Given the description of an element on the screen output the (x, y) to click on. 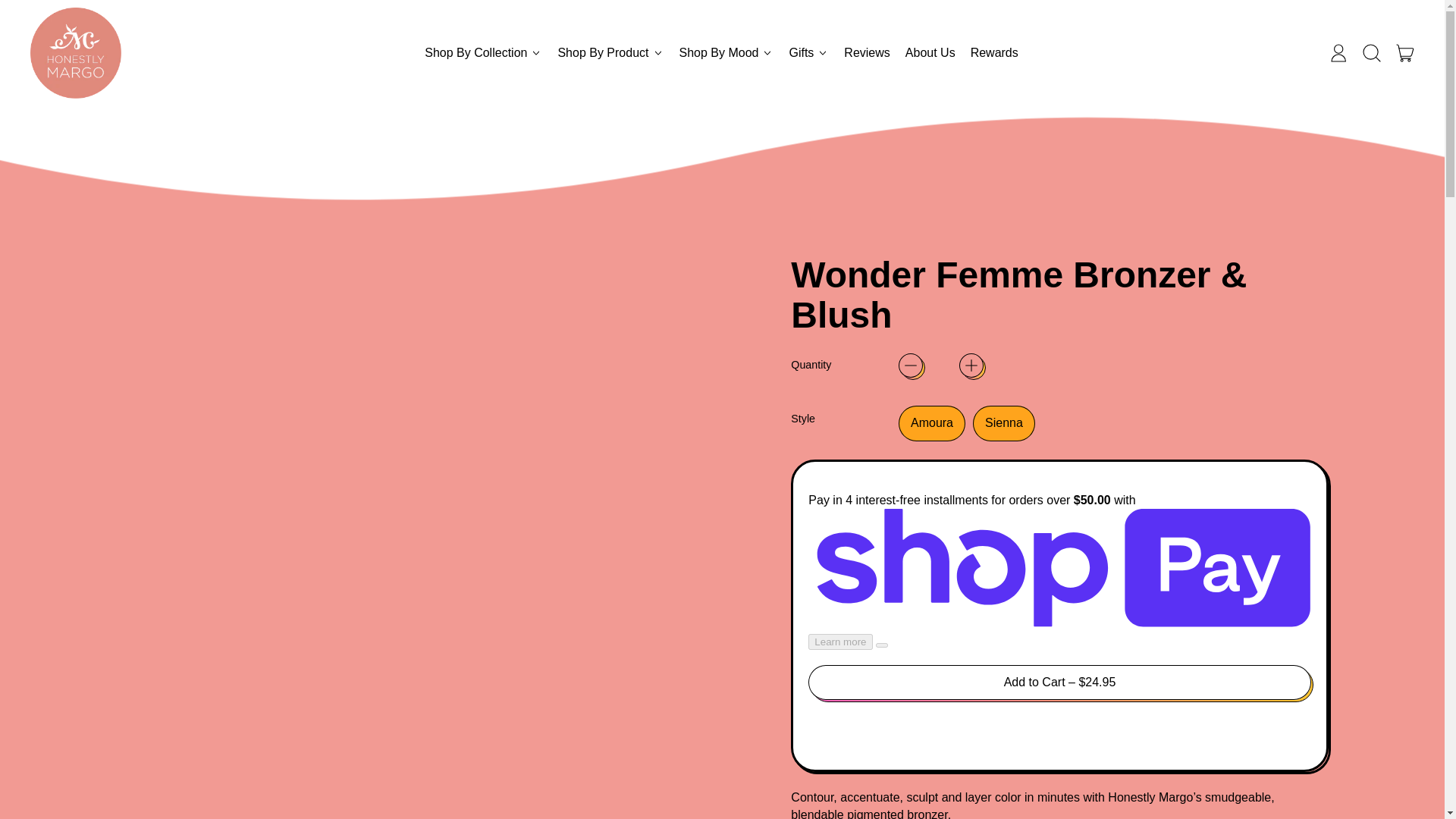
Shop By Product (610, 52)
Gifts (807, 52)
Reviews (865, 52)
Rewards (994, 52)
About Us (1405, 52)
Shop By Mood (930, 52)
Shop By Collection (726, 52)
Log in (483, 52)
Search our site (1338, 52)
